Given the description of an element on the screen output the (x, y) to click on. 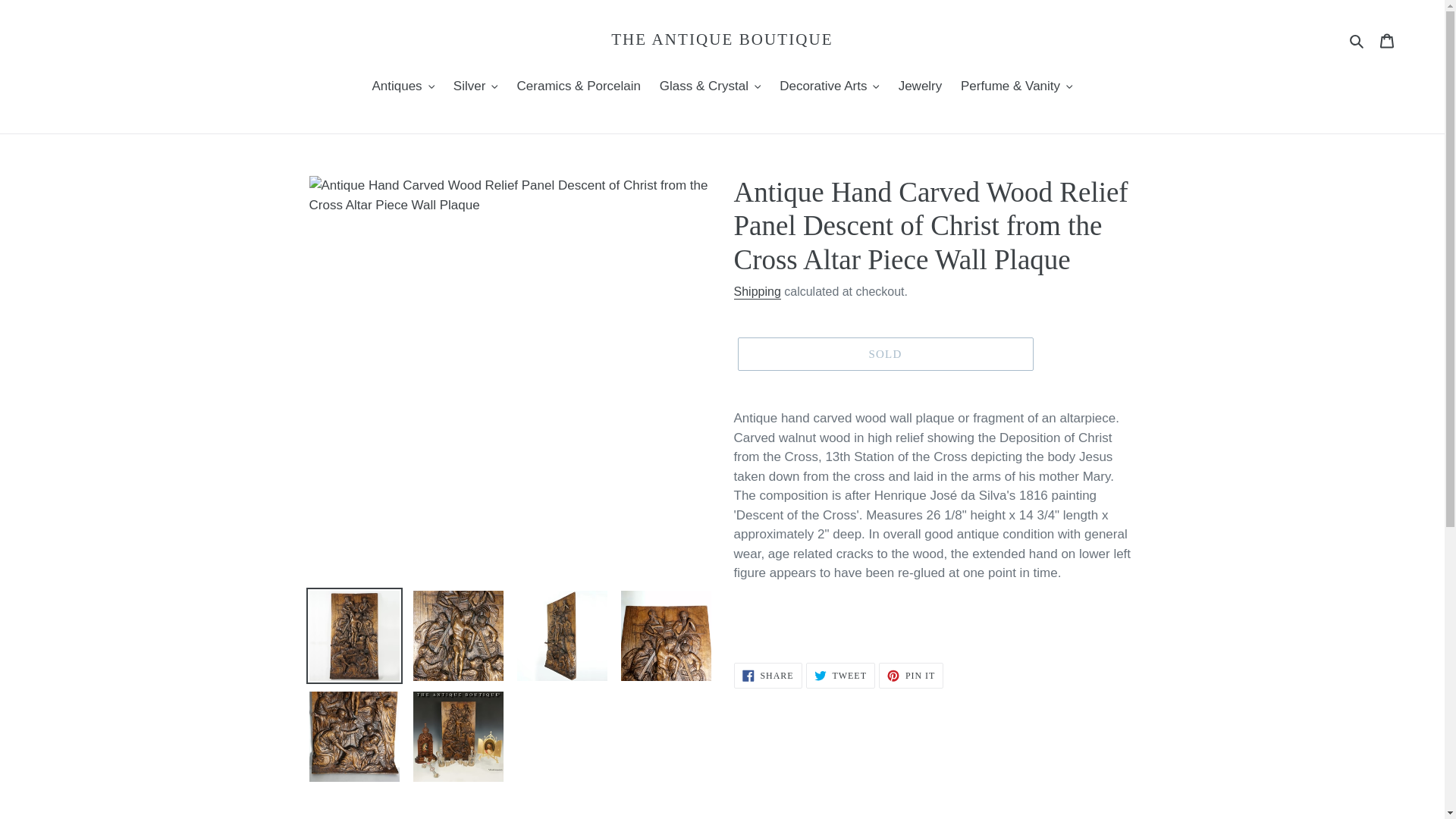
Cart (1387, 39)
THE ANTIQUE BOUTIQUE (721, 39)
Search (1357, 39)
